Given the description of an element on the screen output the (x, y) to click on. 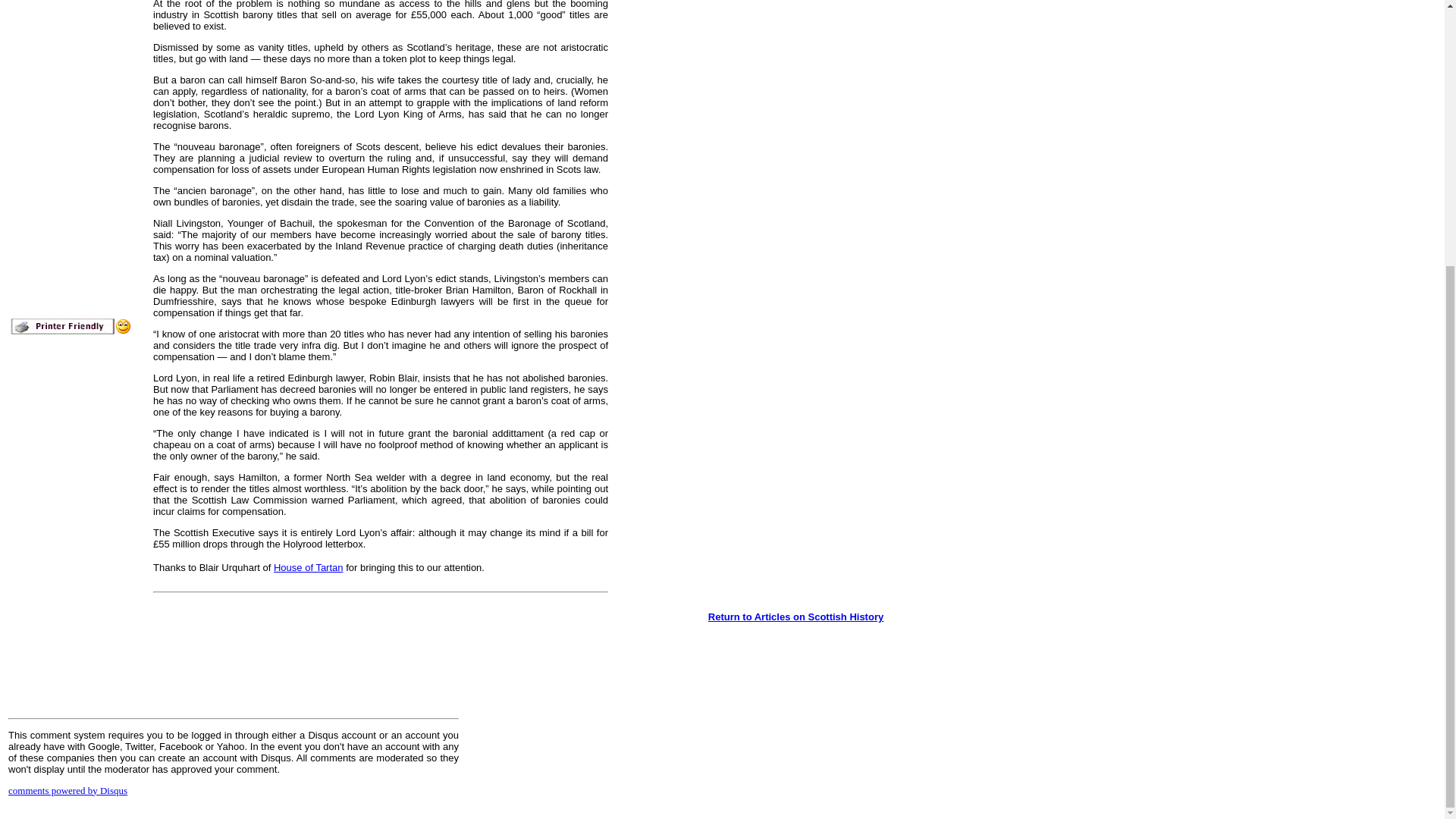
Return to Articles on Scottish History (795, 616)
comments powered by Disqus (68, 790)
House of Tartan (308, 567)
